Given the description of an element on the screen output the (x, y) to click on. 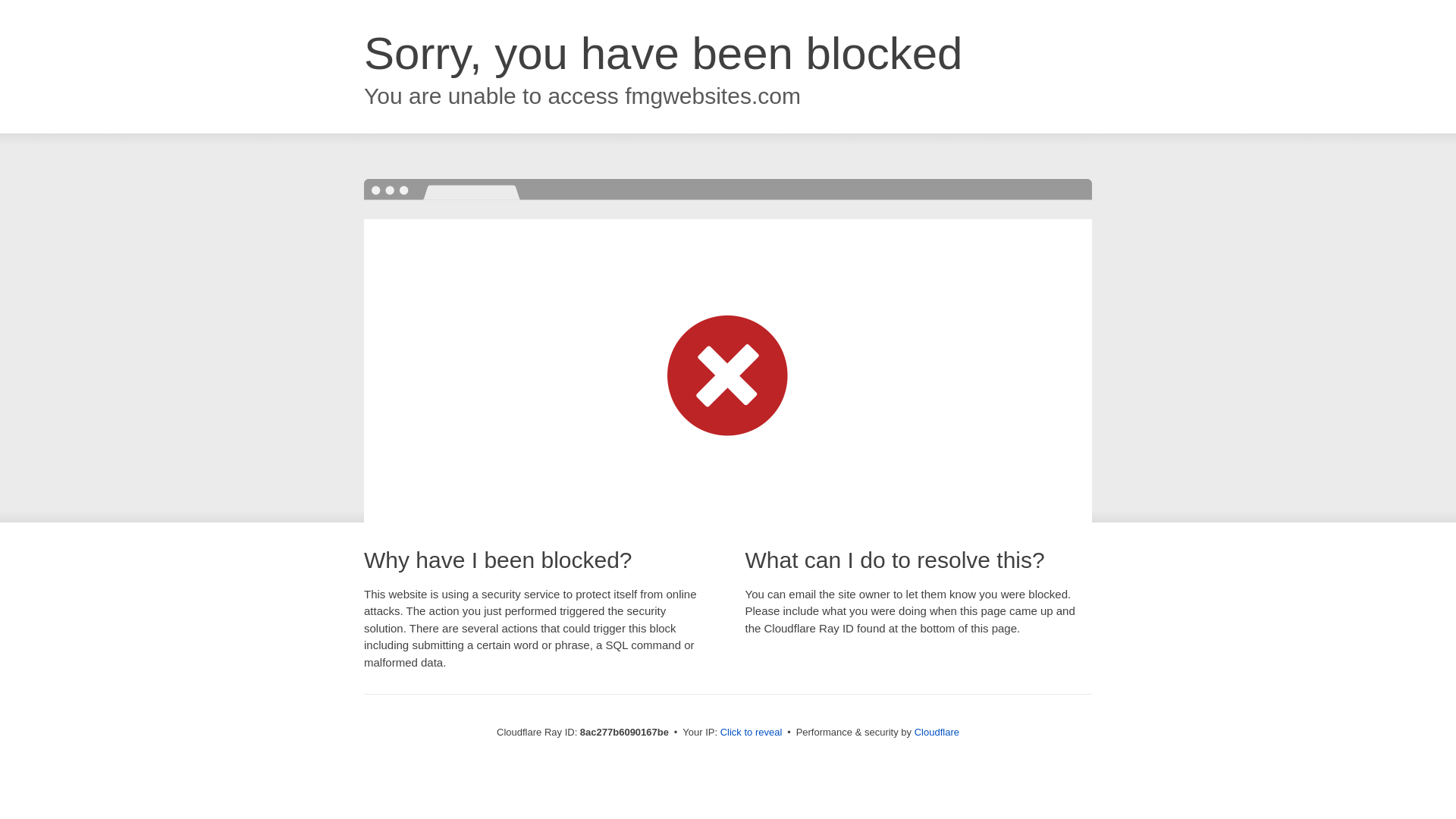
Click to reveal (751, 732)
Cloudflare (936, 731)
